Given the description of an element on the screen output the (x, y) to click on. 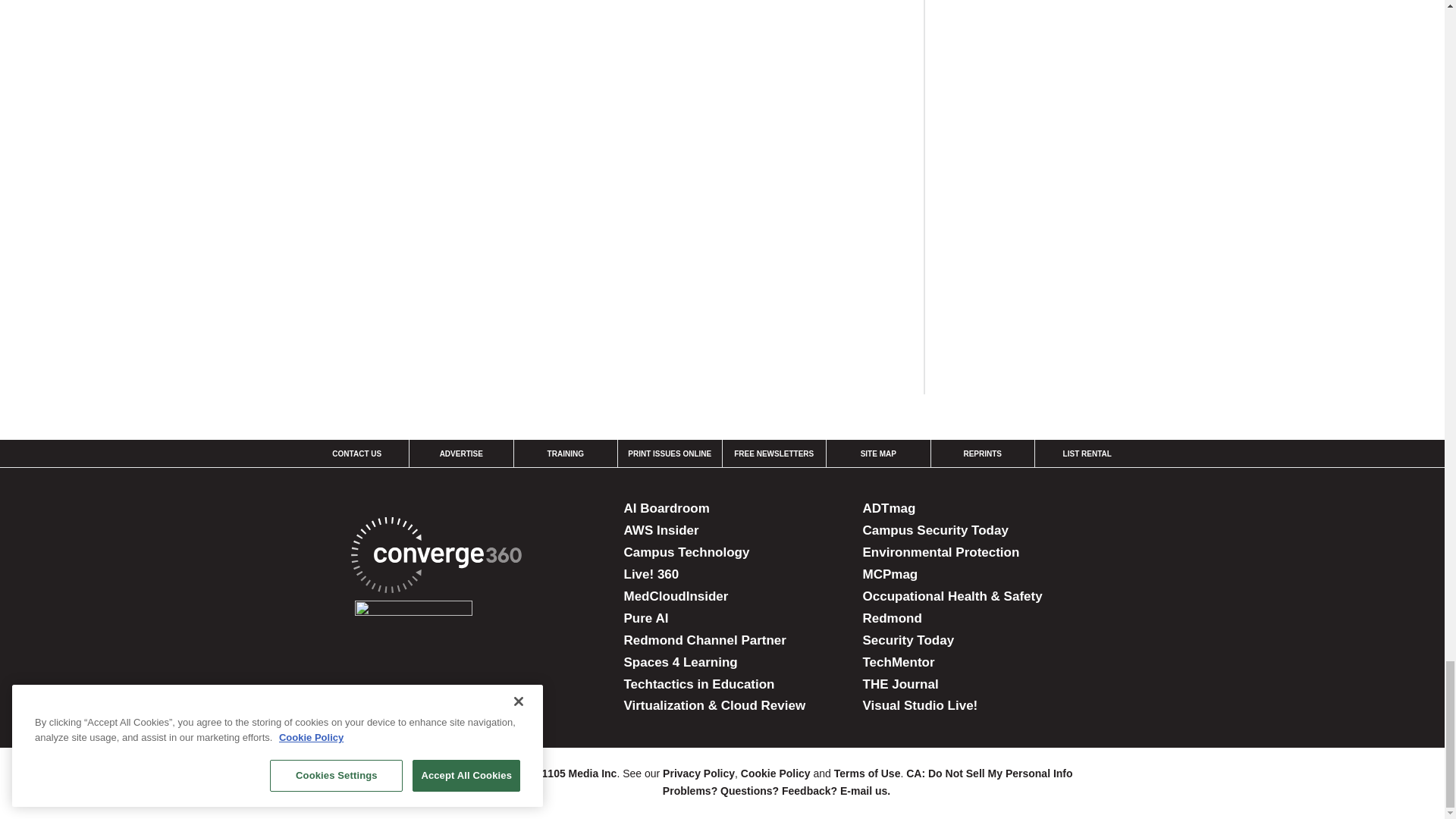
3rd party ad content (1059, 261)
3rd party ad content (1059, 64)
